Given the description of an element on the screen output the (x, y) to click on. 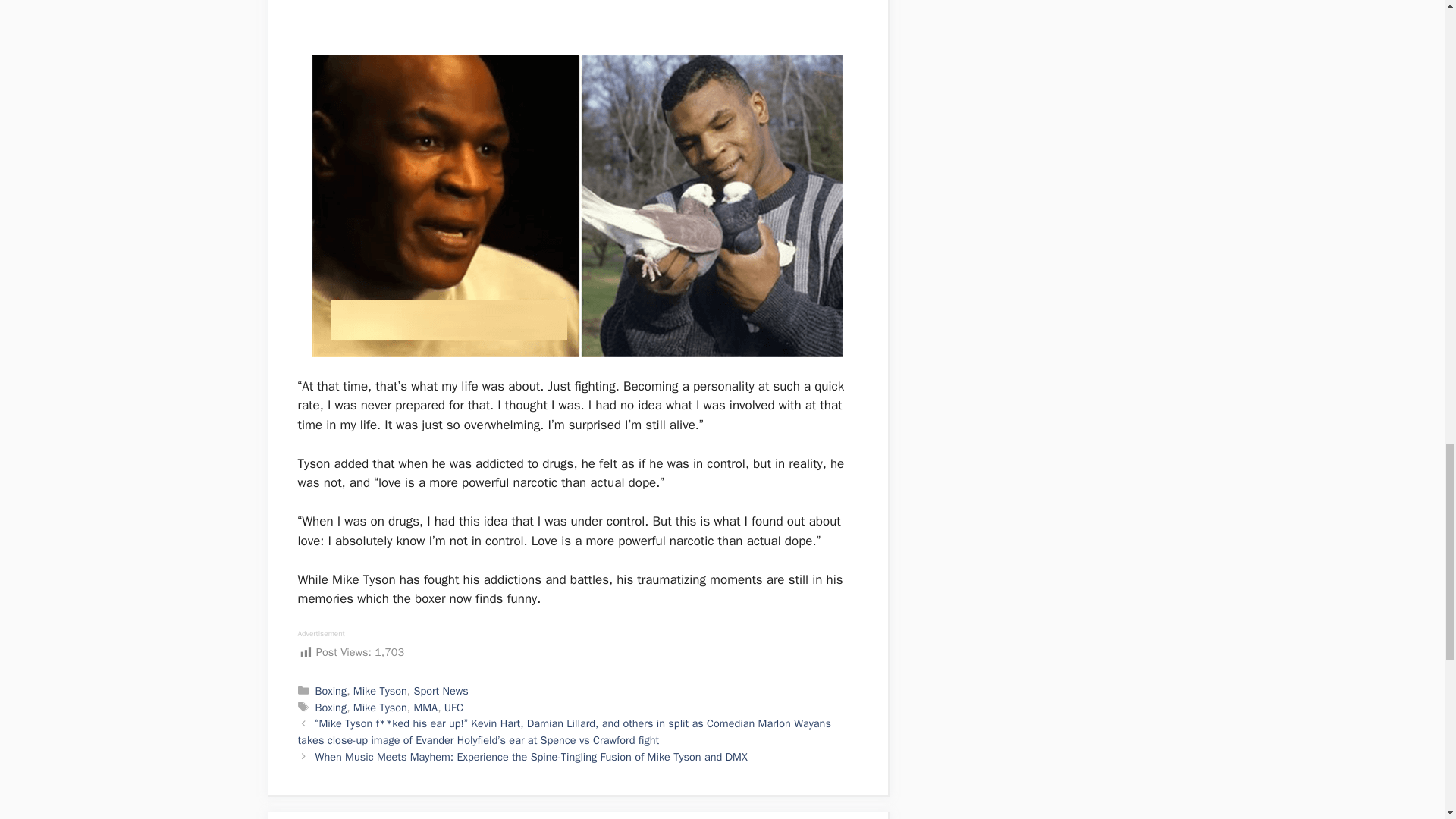
Boxing (331, 690)
Mike Tyson (380, 690)
Sport News (440, 690)
Mike Tyson (380, 707)
MMA (425, 707)
Boxing (331, 707)
UFC (453, 707)
